Given the description of an element on the screen output the (x, y) to click on. 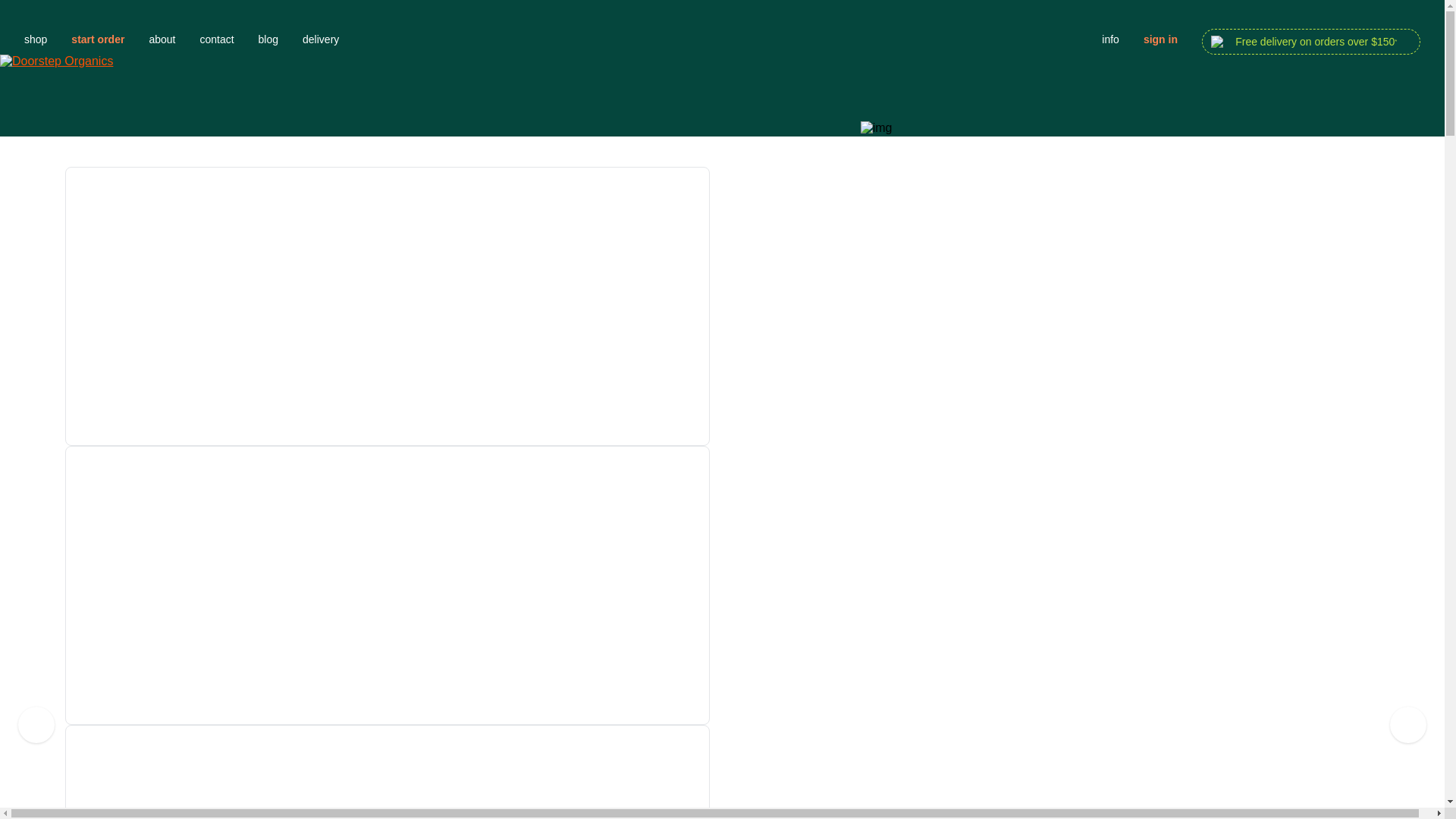
contact Element type: text (216, 39)
sign in Element type: text (1160, 39)
info Element type: text (1110, 39)
blog Element type: text (268, 39)
about Element type: text (161, 39)
start order Element type: text (97, 39)
shop Element type: text (35, 39)
Free delivery on orders over $150* Element type: text (1310, 41)
delivery Element type: text (689, 39)
